Given the description of an element on the screen output the (x, y) to click on. 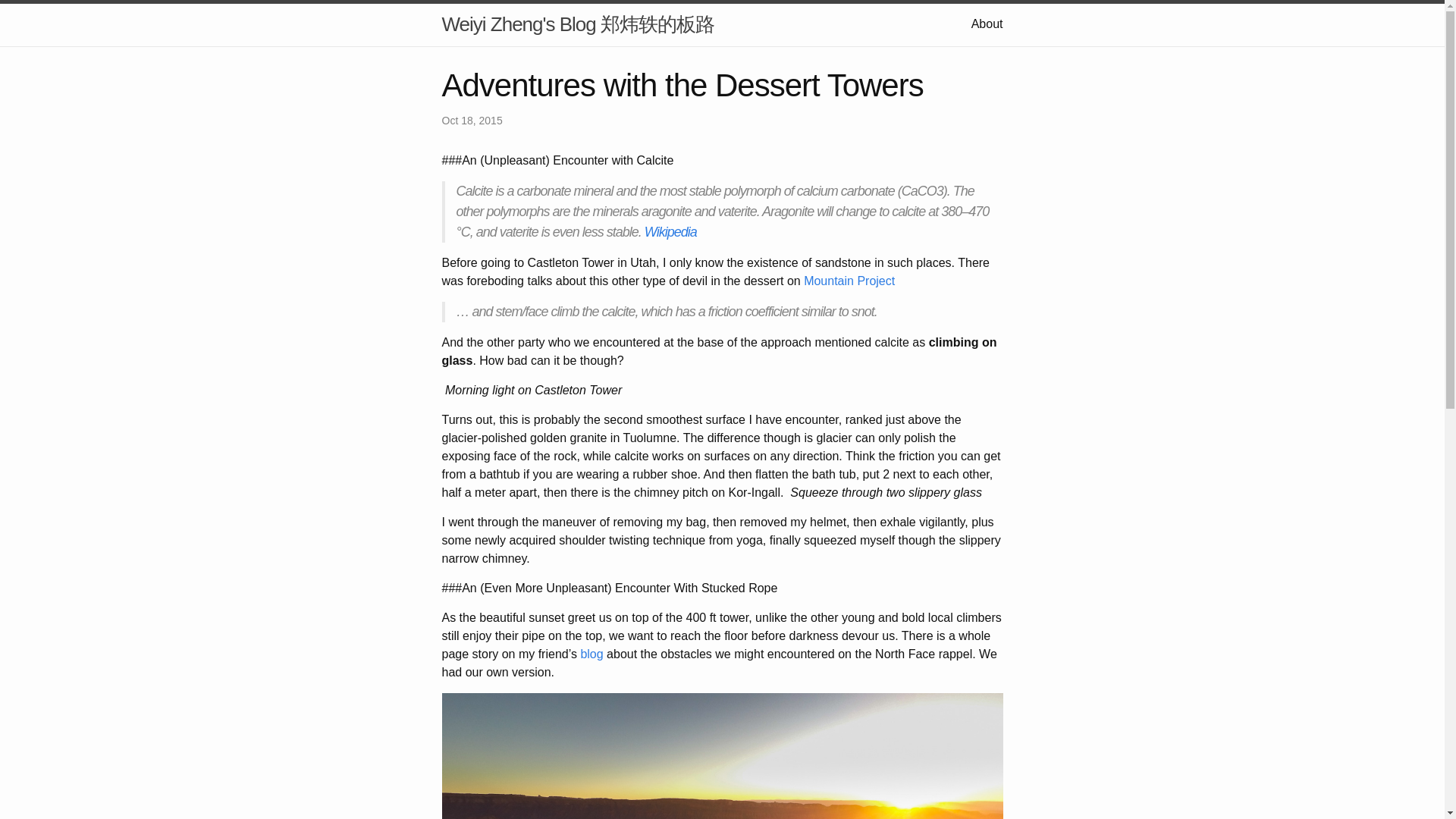
blog (590, 653)
About (987, 23)
Mountain Project (849, 280)
Wikipedia (671, 231)
